Given the description of an element on the screen output the (x, y) to click on. 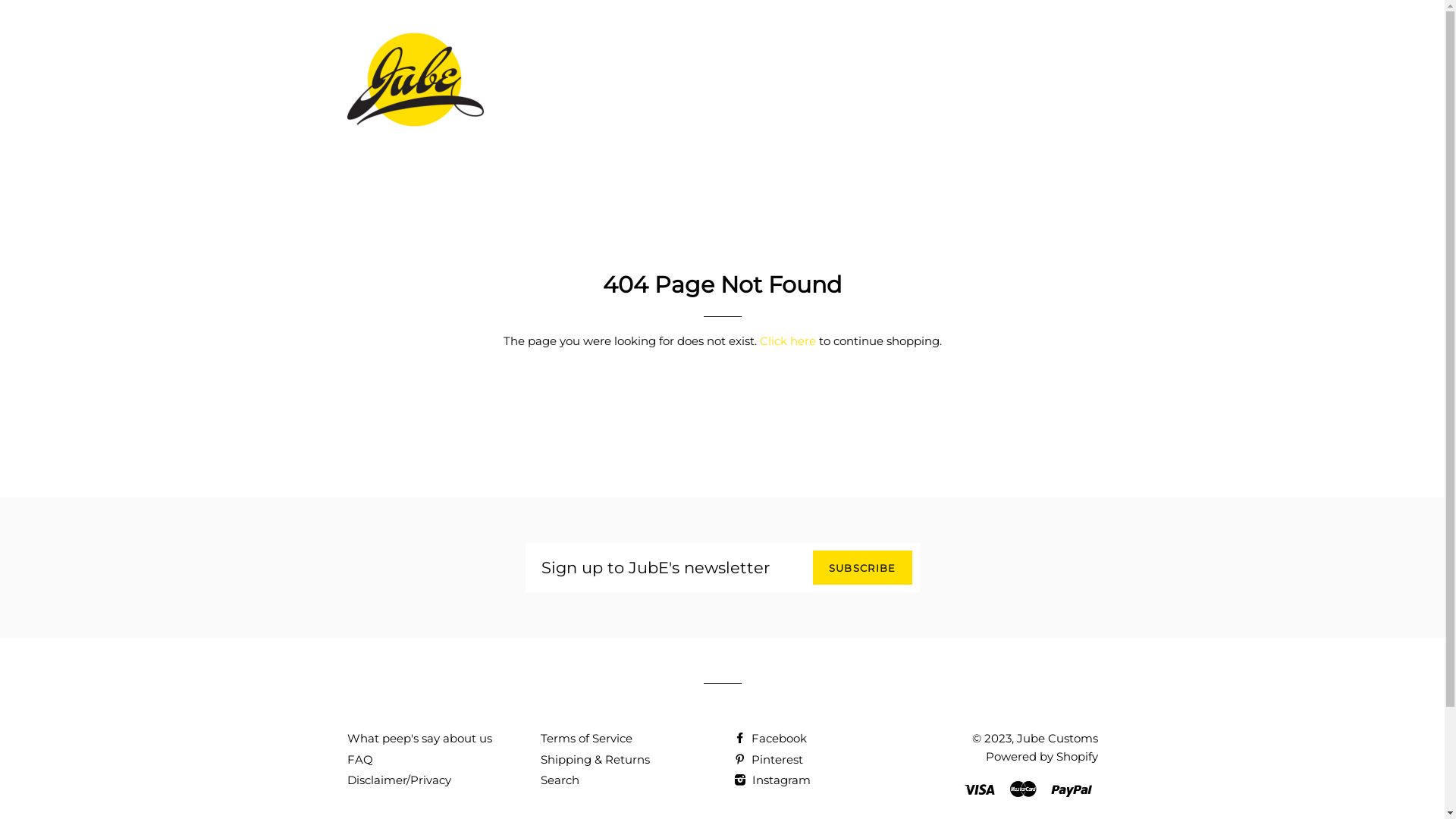
Facebook Element type: text (770, 738)
FAQ Element type: text (360, 759)
SUBSCRIBE Element type: text (862, 567)
Instagram Element type: text (772, 779)
What peep's say about us Element type: text (419, 738)
Disclaimer/Privacy Element type: text (399, 779)
Search Element type: text (558, 779)
Terms of Service Element type: text (585, 738)
Shipping & Returns Element type: text (594, 759)
Pinterest Element type: text (768, 759)
Jube Customs Element type: text (1056, 738)
Powered by Shopify Element type: text (1041, 756)
Click here Element type: text (787, 340)
